Given the description of an element on the screen output the (x, y) to click on. 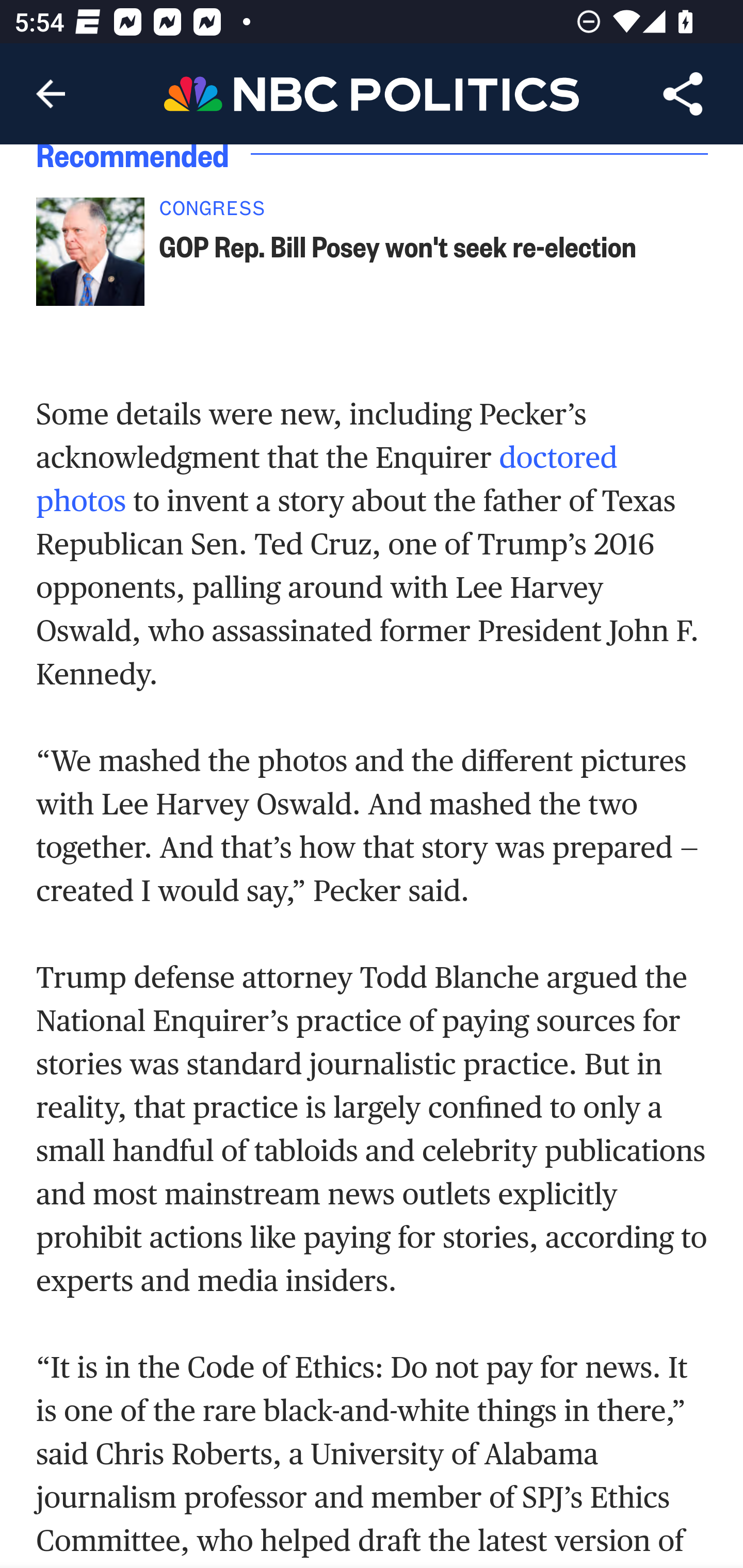
Navigate up (50, 93)
Share Article, button (683, 94)
Header, NBC Politics (371, 93)
CONGRESS (398, 212)
GOP Rep. Bill Posey won't seek re-election (398, 245)
doctored photos (327, 479)
